Given the description of an element on the screen output the (x, y) to click on. 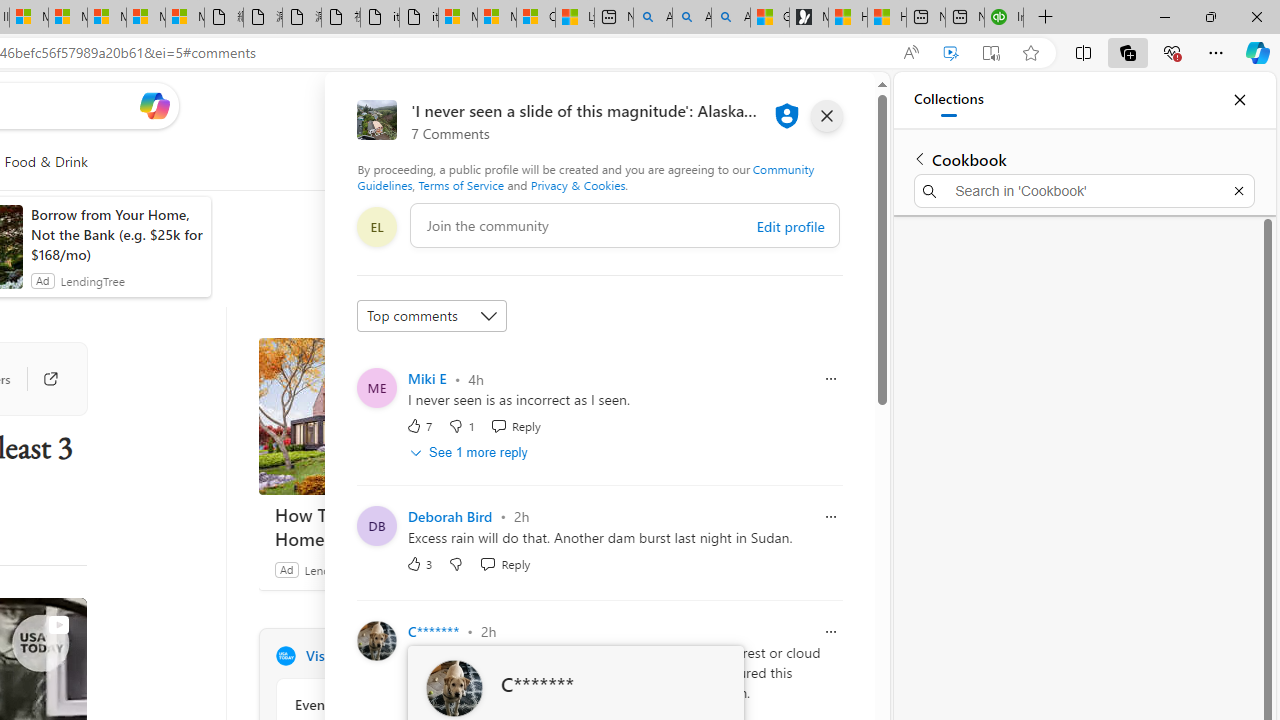
View on Watch (58, 625)
Profile Picture (454, 687)
Enhance video (950, 53)
Intuit QuickBooks Online - Quickbooks (1003, 17)
Profile Picture (454, 687)
Deborah Bird (450, 516)
